Given the description of an element on the screen output the (x, y) to click on. 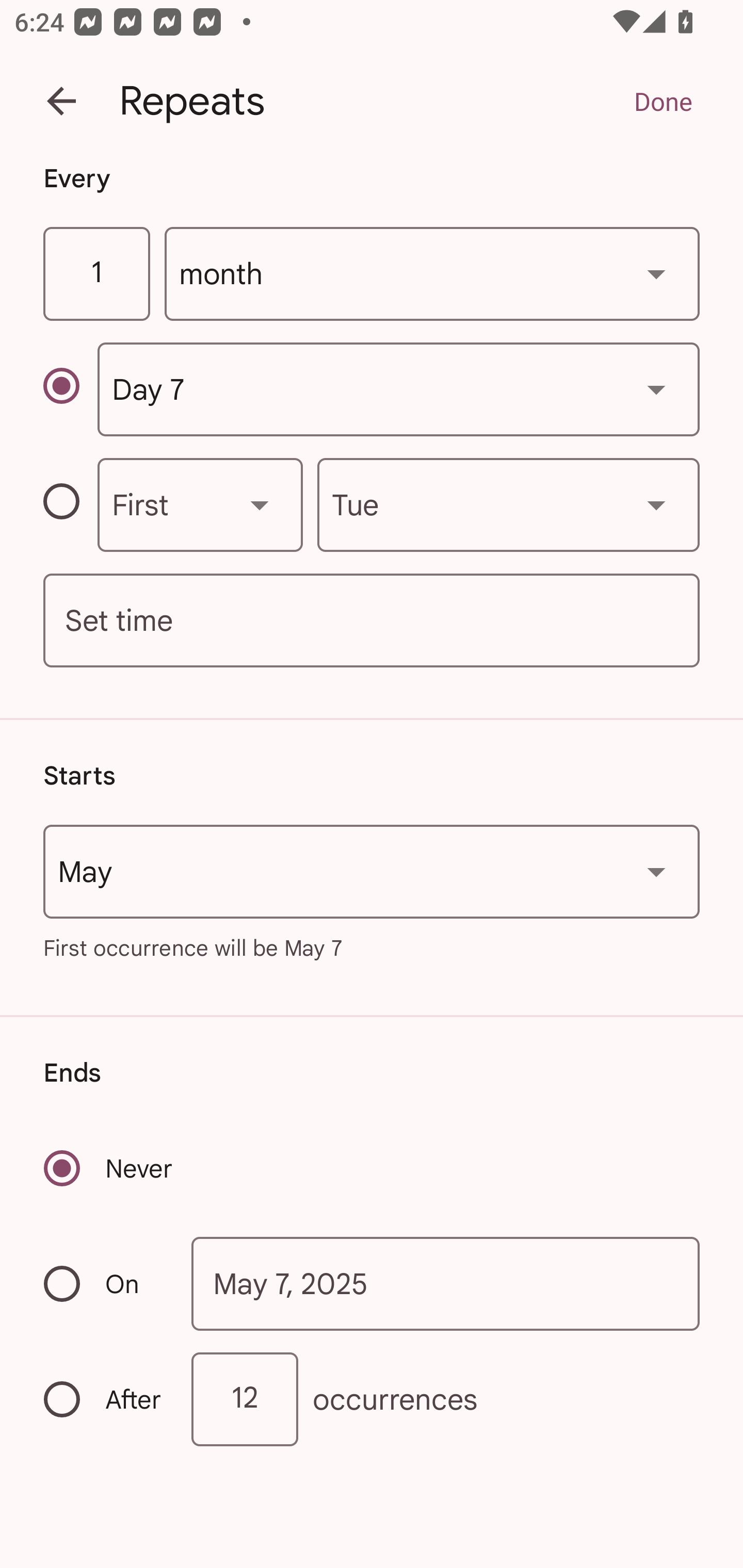
Back (61, 101)
Done (663, 101)
1 (96, 274)
month (431, 274)
Show dropdown menu (655, 273)
Day 7 (398, 388)
Show dropdown menu (655, 389)
Repeat monthly on a specific day of the month (70, 389)
First (200, 504)
Tue (508, 504)
Show dropdown menu (259, 504)
Show dropdown menu (655, 504)
Repeat monthly on a specific weekday (70, 504)
Set time (371, 620)
May (371, 871)
Show dropdown menu (655, 871)
Never Recurrence never ends (109, 1168)
May 7, 2025 (445, 1284)
On Recurrence ends on a specific date (104, 1283)
12 (244, 1398)
